Given the description of an element on the screen output the (x, y) to click on. 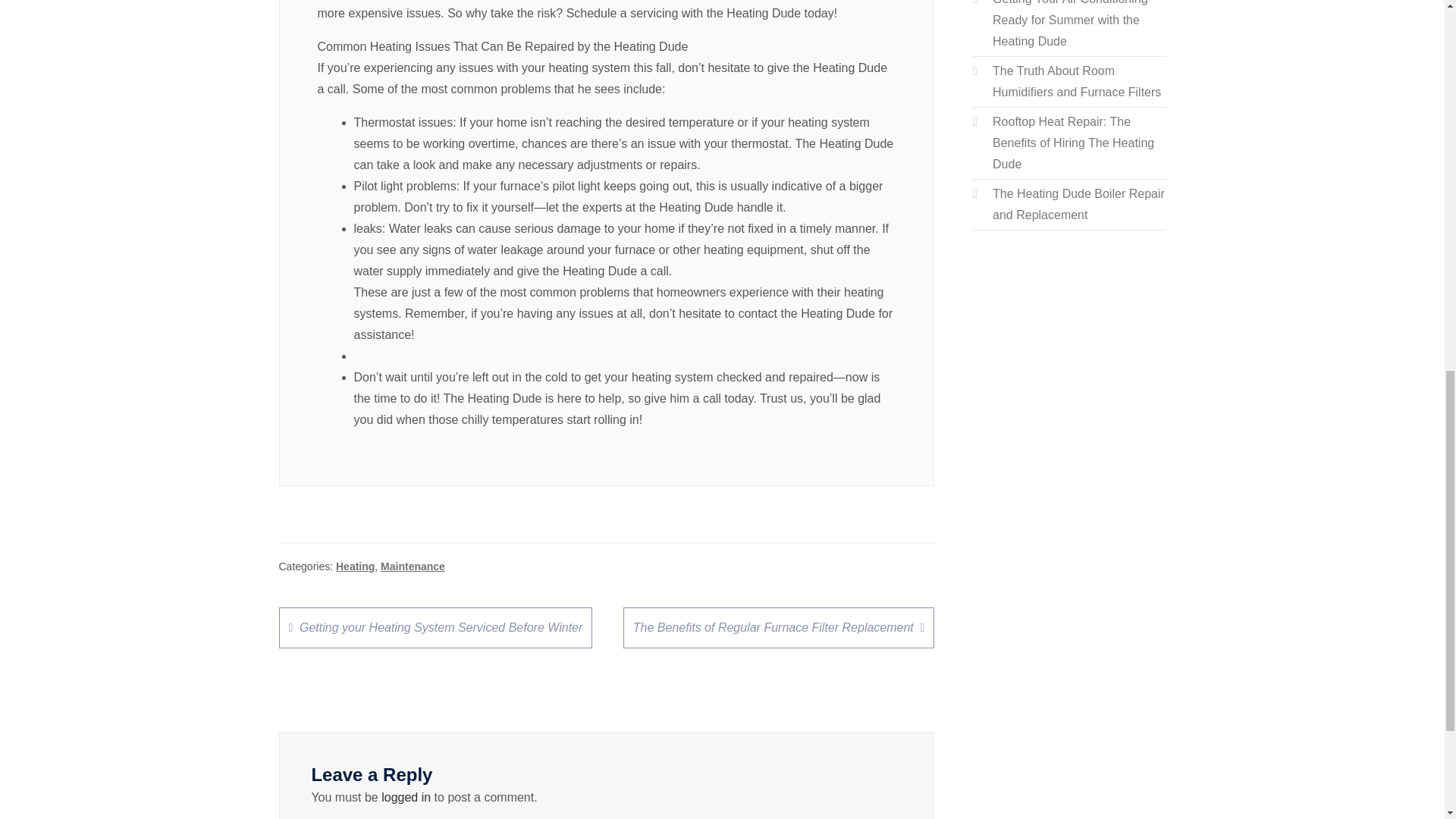
The Benefits of Regular Furnace Filter Replacement (778, 627)
Maintenance (412, 566)
Heating (355, 566)
Getting your Heating System Serviced Before Winter (435, 627)
Rooftop Heat Repair: The Benefits of Hiring The Heating Dude (1073, 142)
The Truth About Room Humidifiers and Furnace Filters (1076, 81)
logged in (405, 797)
The Heating Dude Boiler Repair and Replacement (1078, 204)
